Given the description of an element on the screen output the (x, y) to click on. 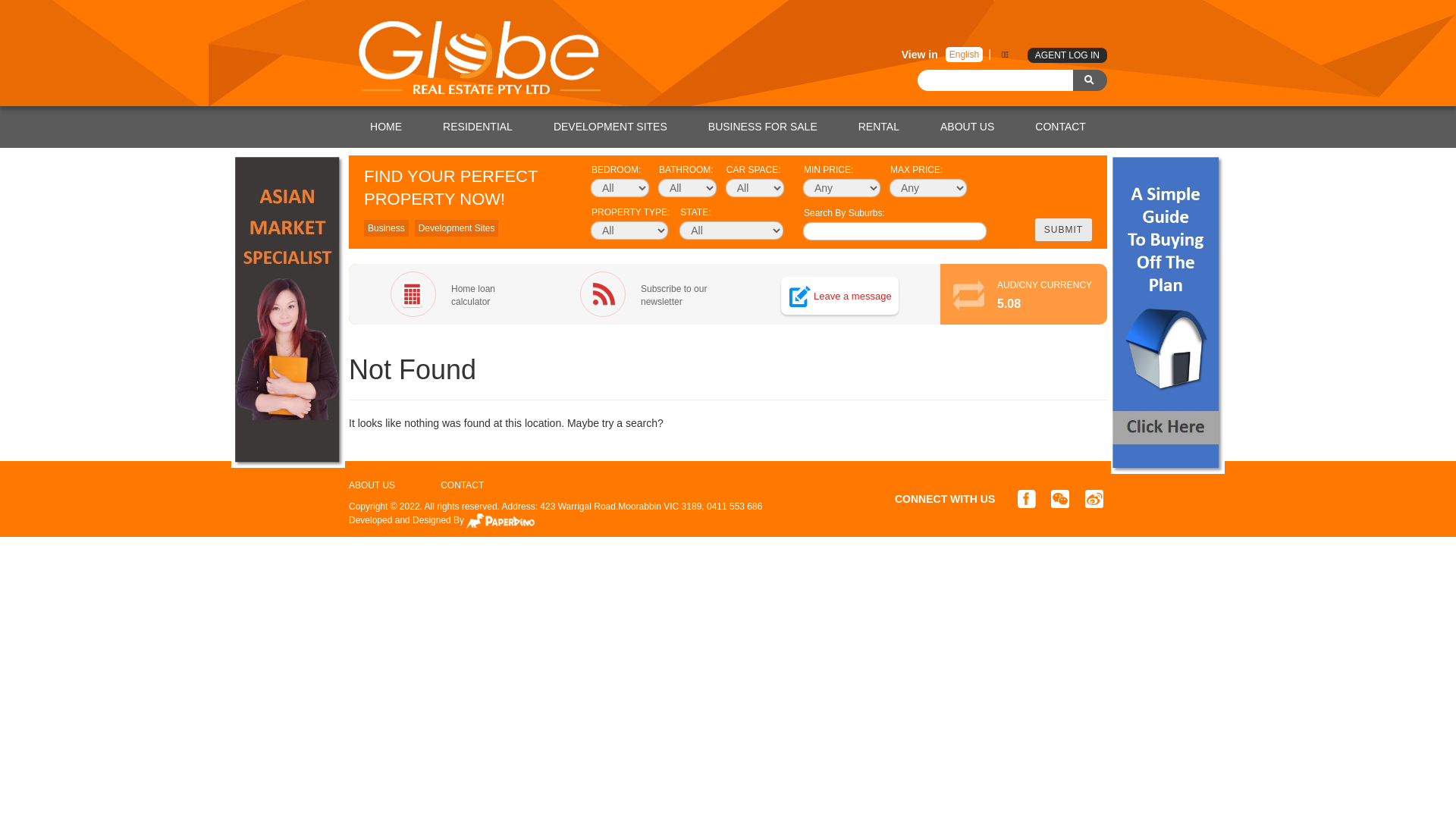
RENTAL Element type: text (878, 126)
RESIDENTIAL Element type: text (477, 126)
CONTACT Element type: text (461, 485)
ABOUT US Element type: text (371, 485)
Subscribe to our newsletter Element type: text (644, 293)
Logo Element type: hover (481, 65)
Home loan calculator Element type: text (454, 293)
Leave a message Element type: text (852, 295)
English Element type: text (963, 54)
HOME Element type: text (385, 126)
Business Element type: text (386, 227)
ABOUT US Element type: text (967, 126)
BUSINESS FOR SALE Element type: text (762, 126)
AGENT LOG IN Element type: text (1067, 54)
CONTACT Element type: text (1060, 126)
Development Sites Element type: text (456, 227)
SUBMIT Element type: text (1063, 229)
www.paperdino.com.au Element type: hover (500, 520)
DEVELOPMENT SITES Element type: text (610, 126)
